Given the description of an element on the screen output the (x, y) to click on. 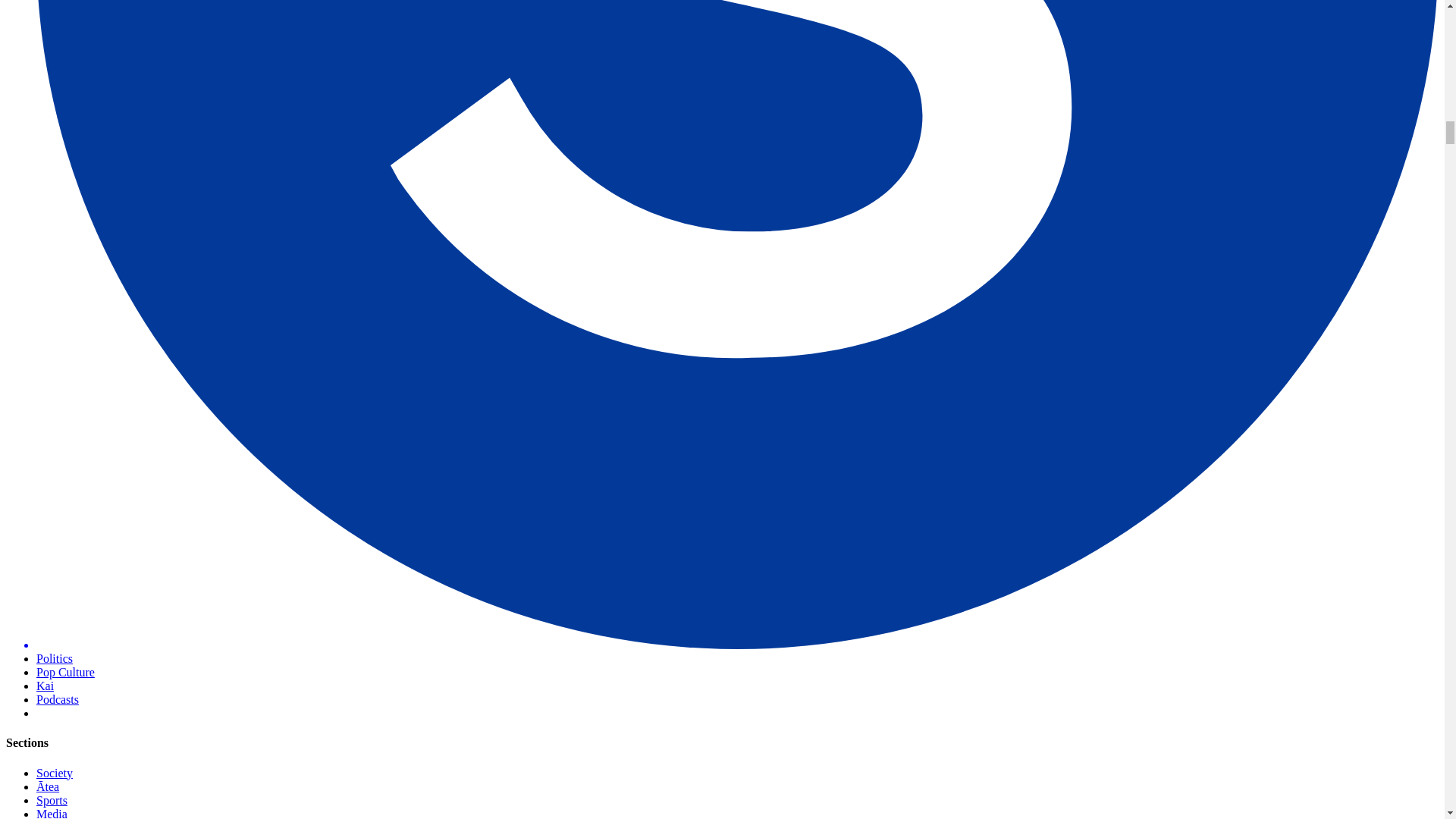
Society (54, 772)
Media (51, 813)
Kai (44, 685)
Pop Culture (65, 671)
Podcasts (57, 698)
Politics (54, 658)
Sports (51, 799)
